Given the description of an element on the screen output the (x, y) to click on. 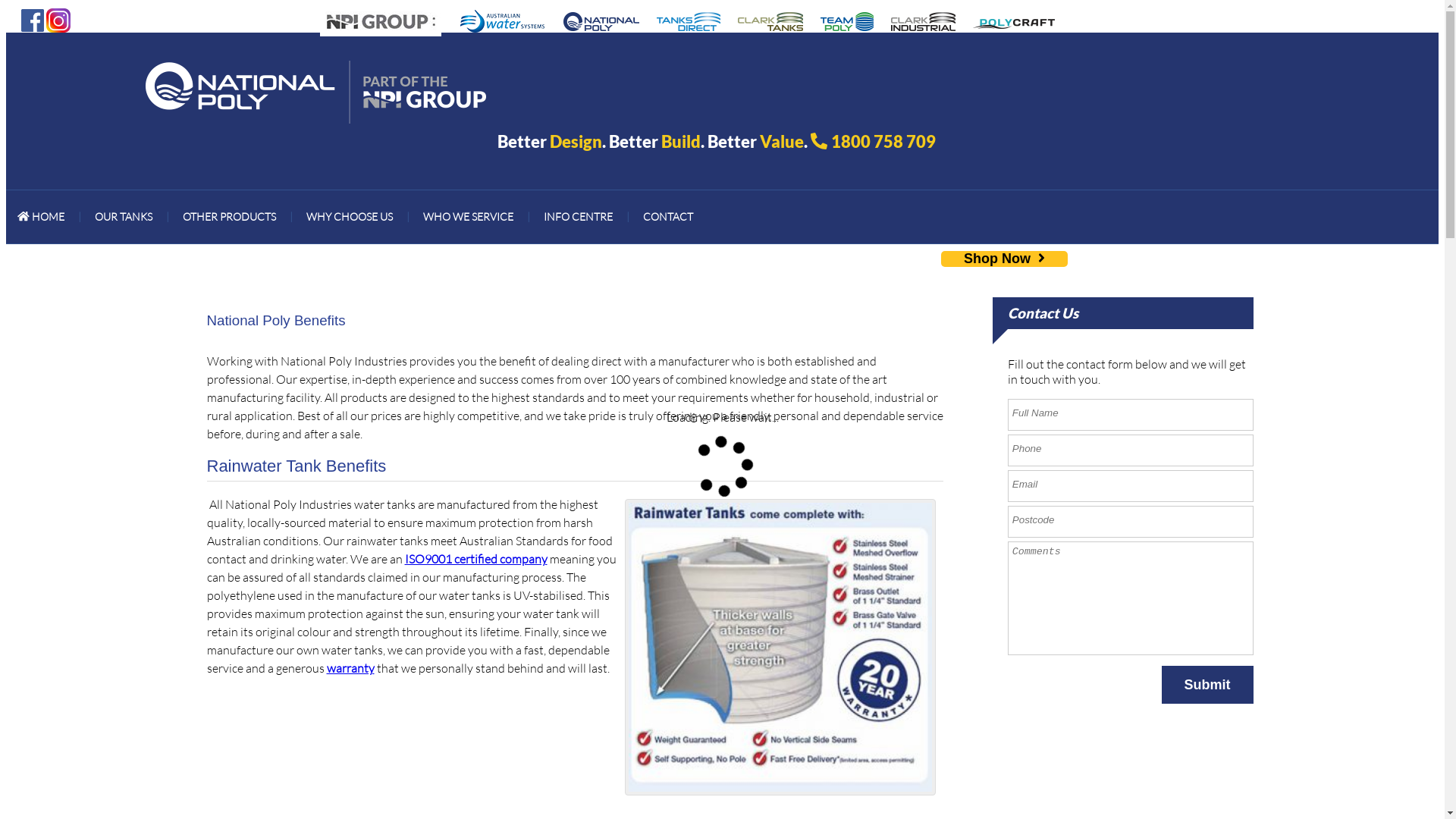
Shop Now Element type: text (1004, 258)
Instagram Element type: hover (58, 18)
WHY CHOOSE US Element type: text (349, 216)
1800 758 709 Element type: text (883, 141)
ISO9001 certified company Element type: text (475, 558)
Rainwater Tank Benefits Element type: hover (779, 646)
Facebook page Element type: hover (32, 18)
warranty Element type: text (349, 667)
WHO WE SERVICE Element type: text (467, 216)
INFO CENTRE Element type: text (578, 216)
Submit Element type: text (1207, 684)
OTHER PRODUCTS Element type: text (229, 216)
OUR TANKS Element type: text (123, 216)
HOME Element type: text (40, 216)
CONTACT Element type: text (667, 216)
